Given the description of an element on the screen output the (x, y) to click on. 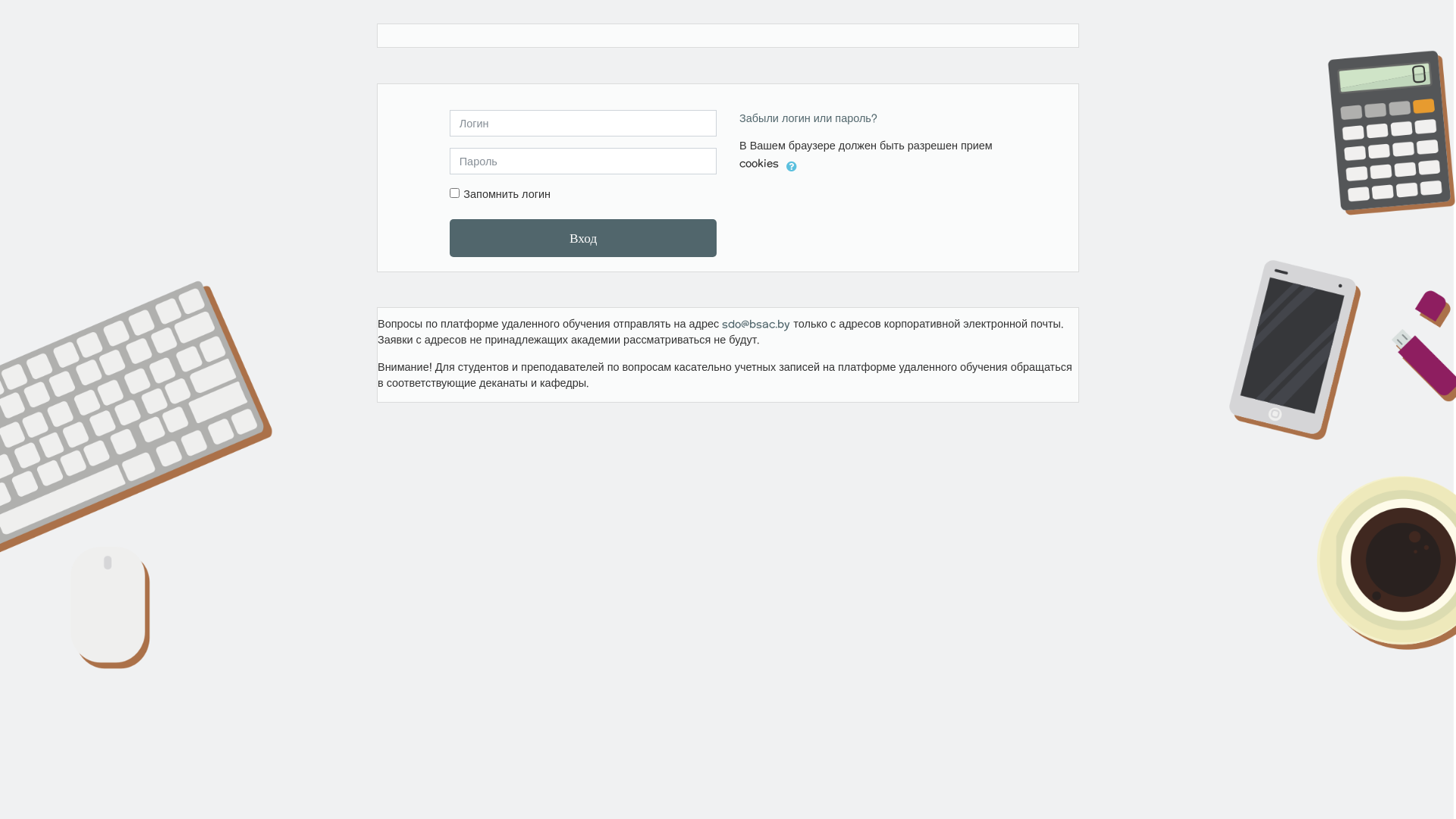
sdo@bsac.by Element type: text (755, 323)
